Given the description of an element on the screen output the (x, y) to click on. 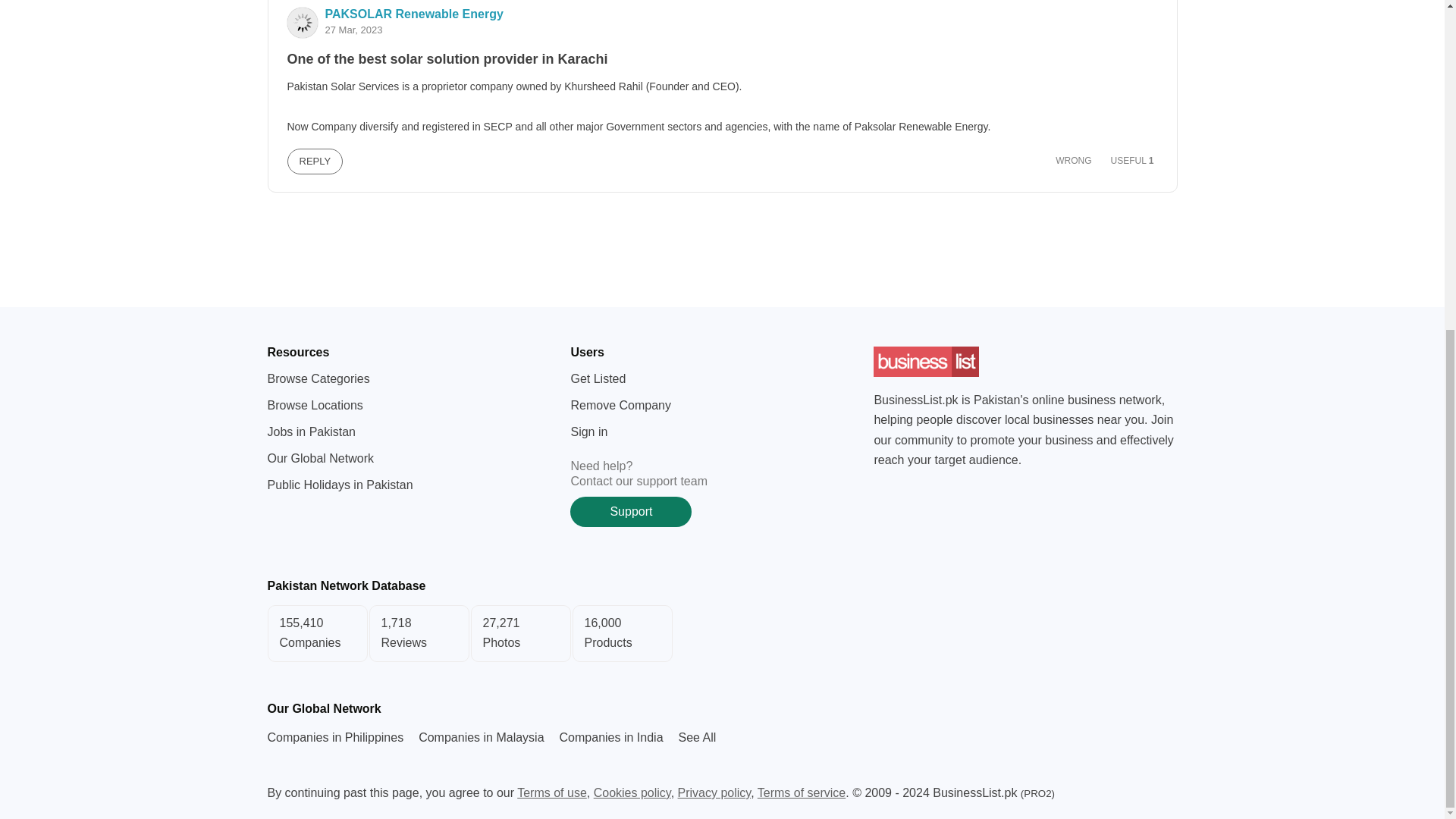
Pakistan Business Directory - BusinessList.pk (926, 361)
WRONG (1067, 160)
USEFUL 1 (1126, 160)
Browse Categories (317, 378)
REPLY (314, 161)
Our Global Network (697, 737)
